Given the description of an element on the screen output the (x, y) to click on. 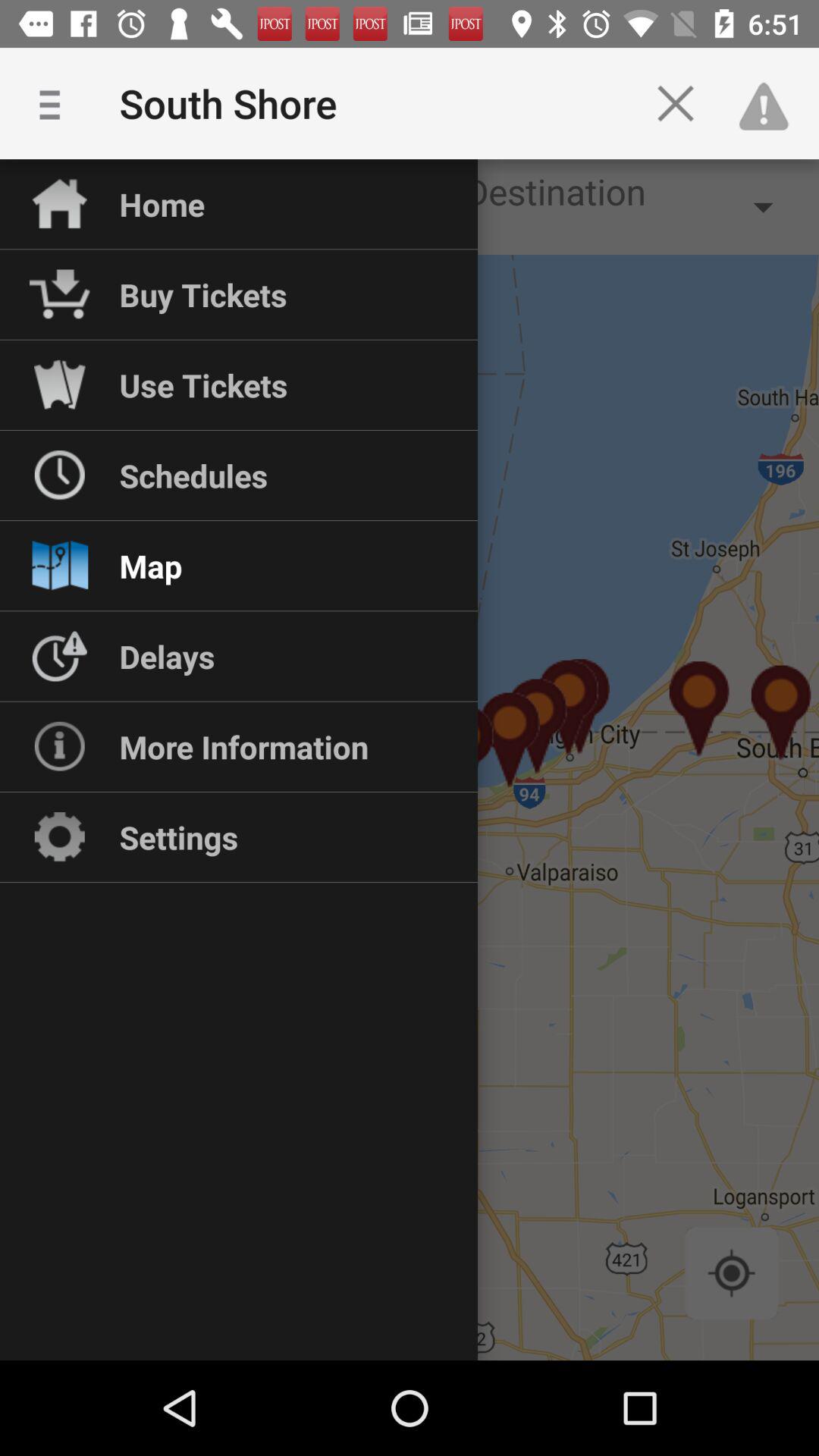
click on cancel button (675, 103)
